Given the description of an element on the screen output the (x, y) to click on. 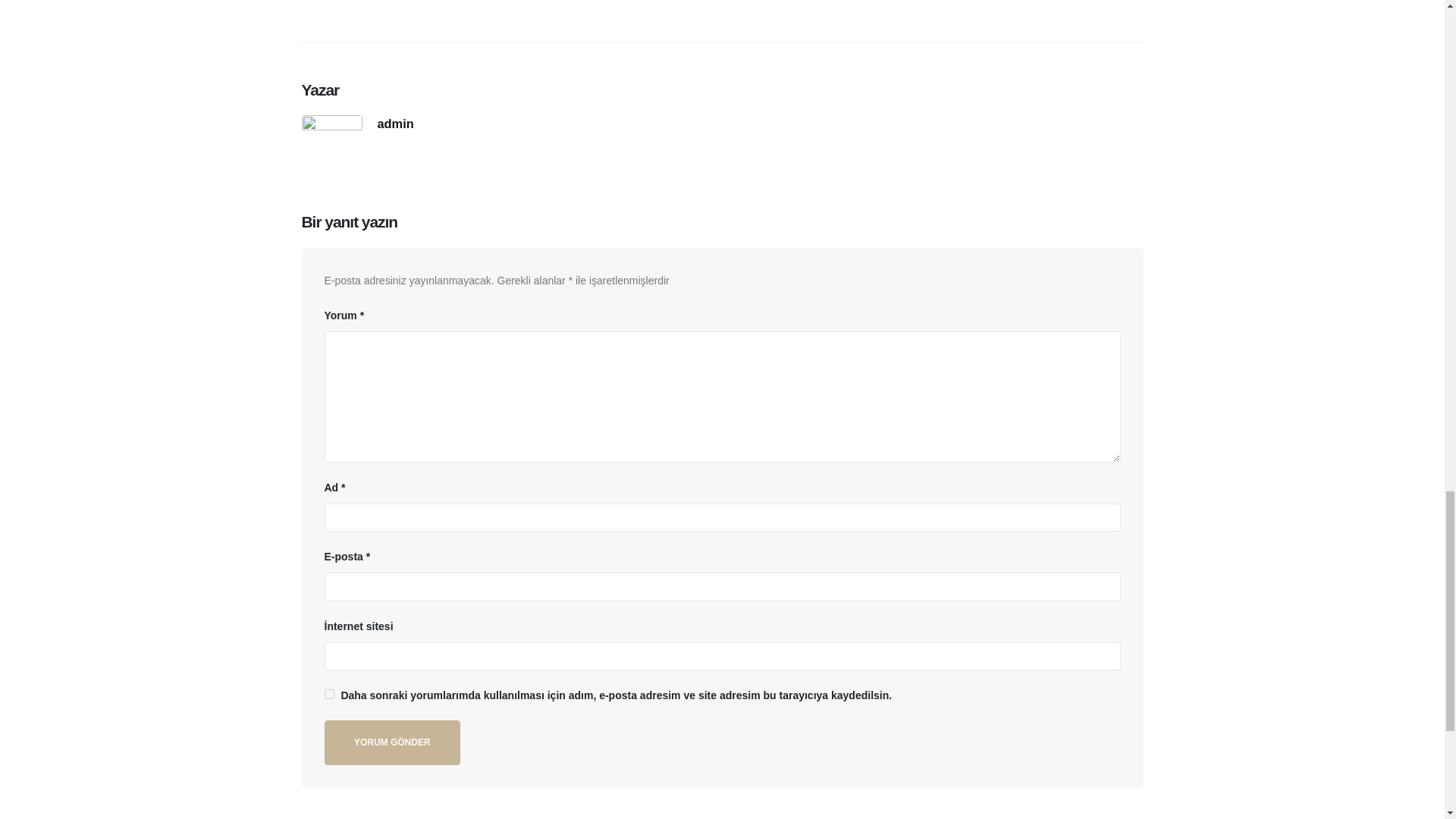
yes (329, 694)
